Given the description of an element on the screen output the (x, y) to click on. 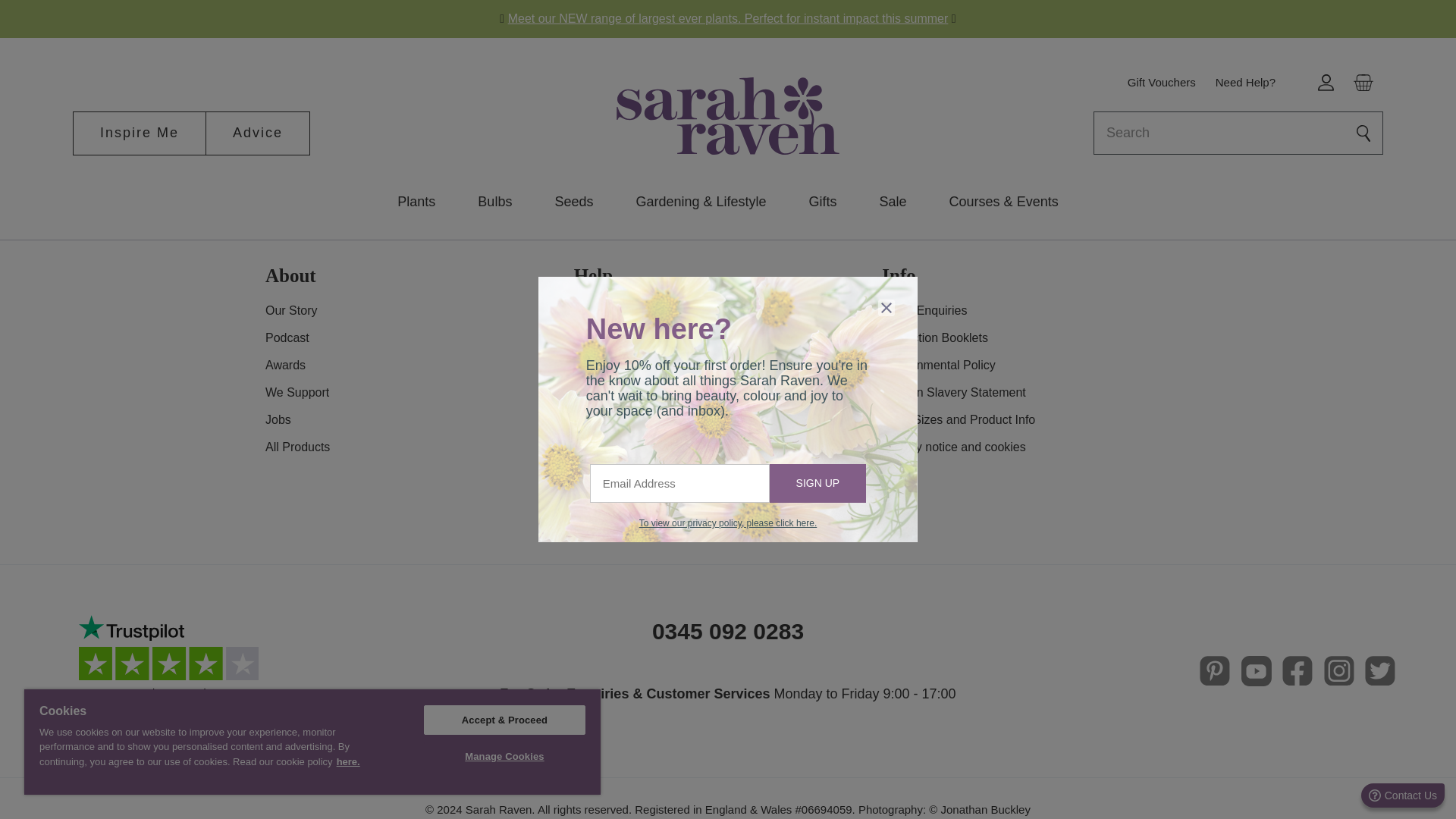
Customer reviews powered by Trustpilot (174, 671)
